Given the description of an element on the screen output the (x, y) to click on. 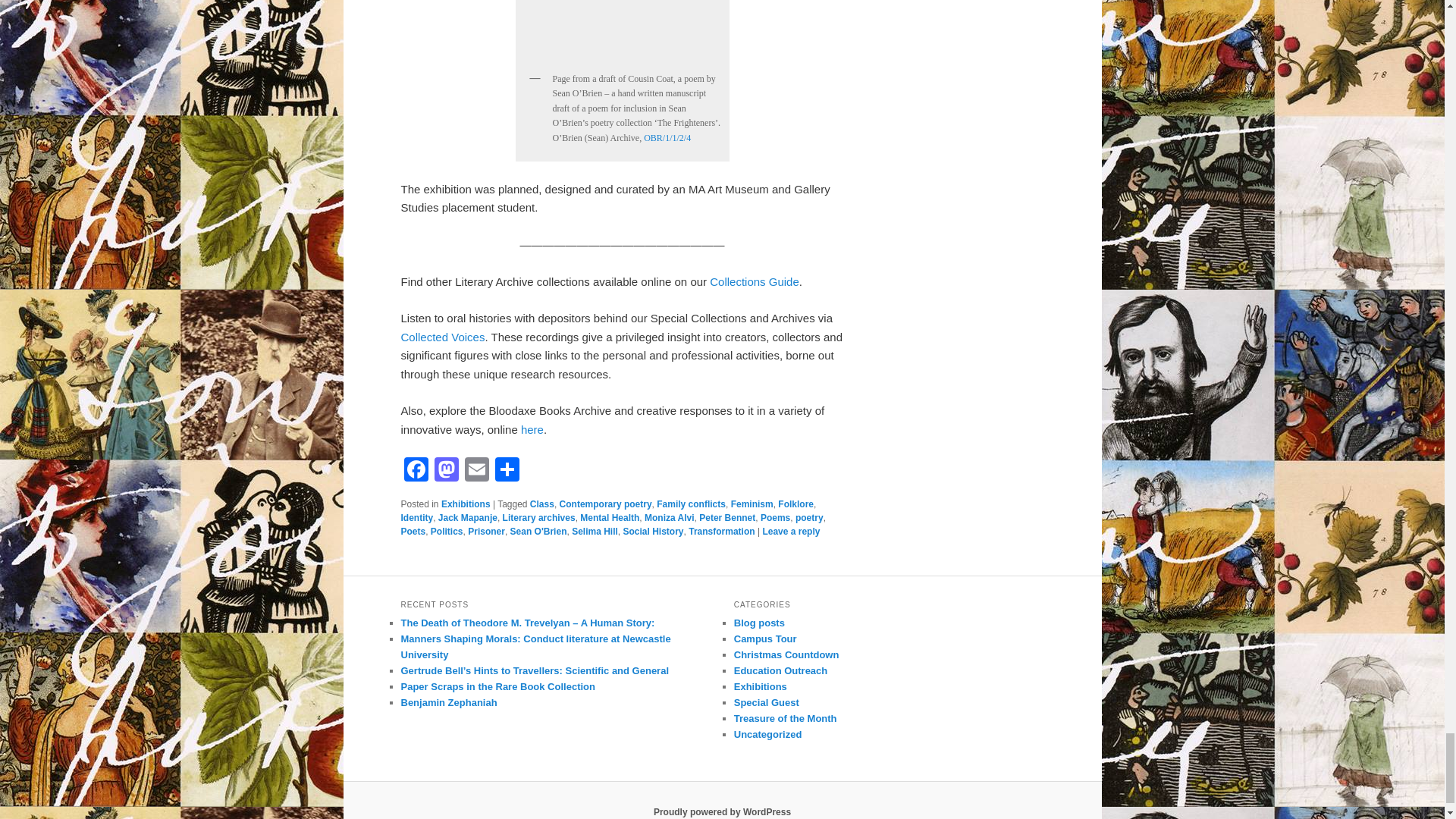
Semantic Personal Publishing Platform (721, 811)
Email (476, 471)
Facebook (415, 471)
Mastodon (445, 471)
